Given the description of an element on the screen output the (x, y) to click on. 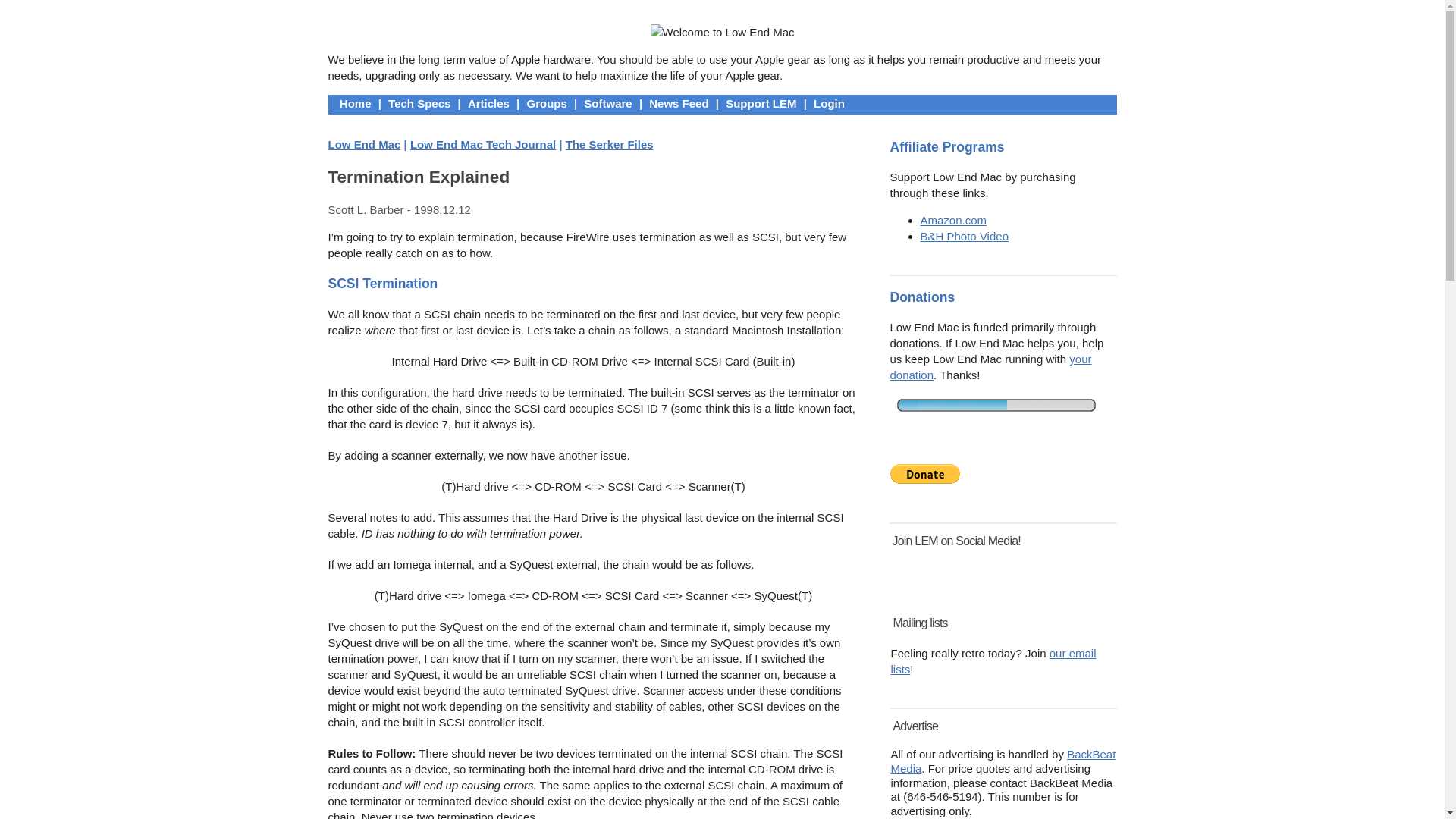
Home (355, 103)
Amazon (953, 219)
Tech Specs (419, 103)
News Feed (678, 103)
Our User Forums (546, 103)
Login (828, 103)
News Feed (678, 103)
your donation (990, 366)
Mac Specs (419, 103)
Low End Mac Tech Journal (483, 144)
Support Low End Mac (760, 103)
Low End Mac (363, 144)
The Serker Files (609, 144)
Opinions, Advice, Commentary (488, 103)
Software (606, 103)
